Given the description of an element on the screen output the (x, y) to click on. 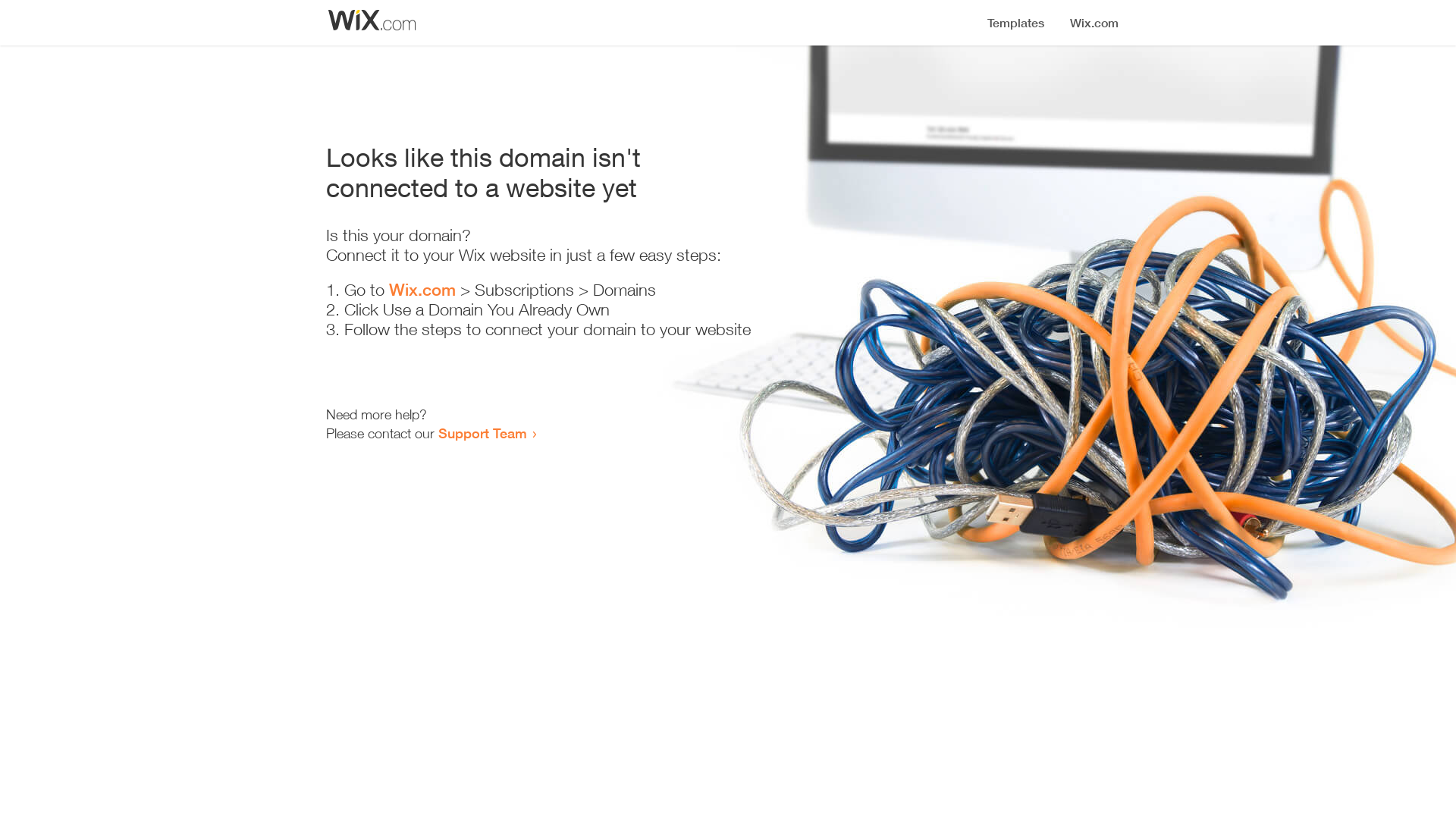
Wix.com Element type: text (422, 289)
Support Team Element type: text (482, 432)
